Given the description of an element on the screen output the (x, y) to click on. 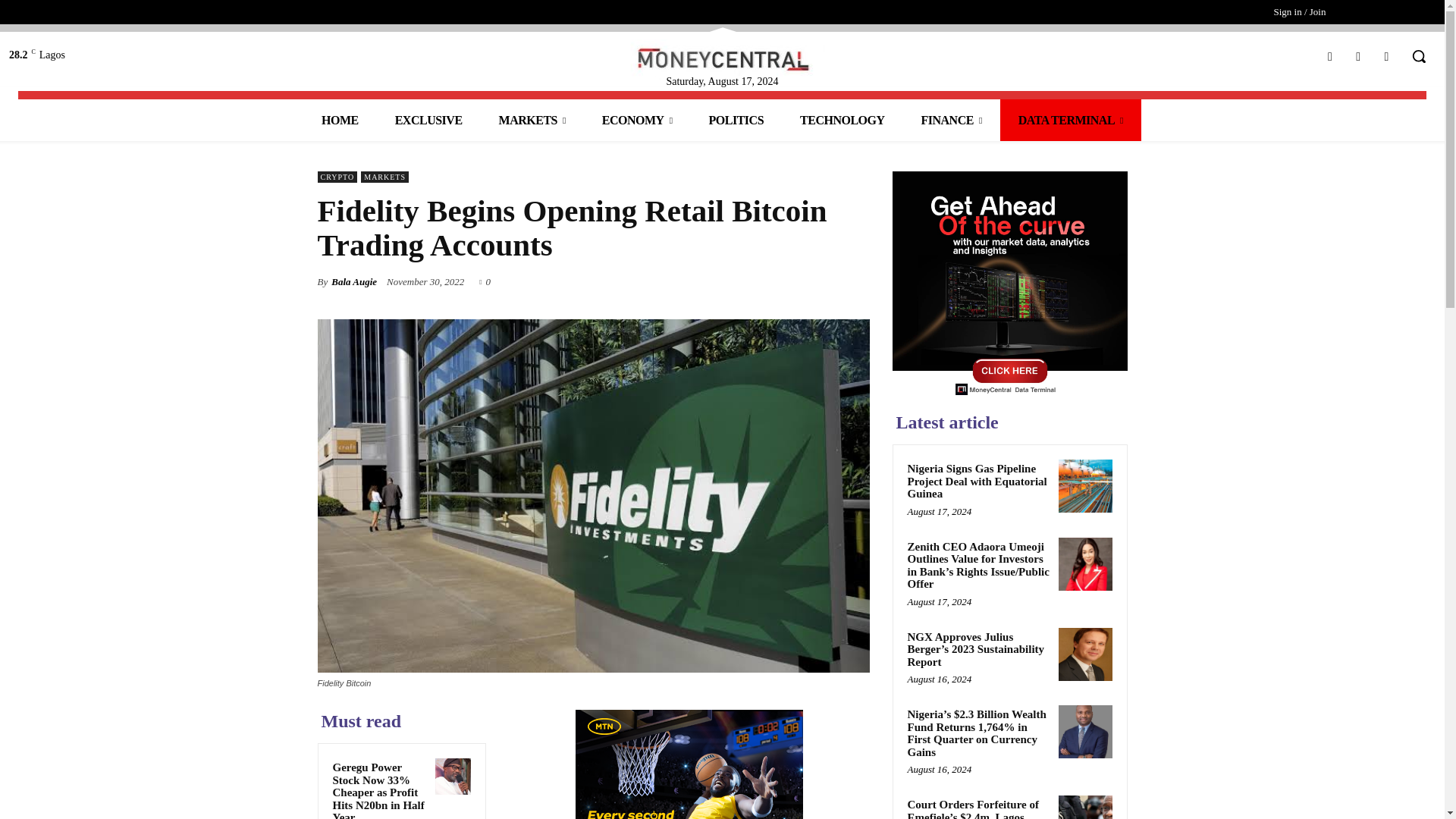
HOME (339, 119)
MARKETS (531, 119)
Twitter (1385, 55)
EXCLUSIVE (428, 119)
Instagram (1358, 55)
Facebook (1329, 55)
